Given the description of an element on the screen output the (x, y) to click on. 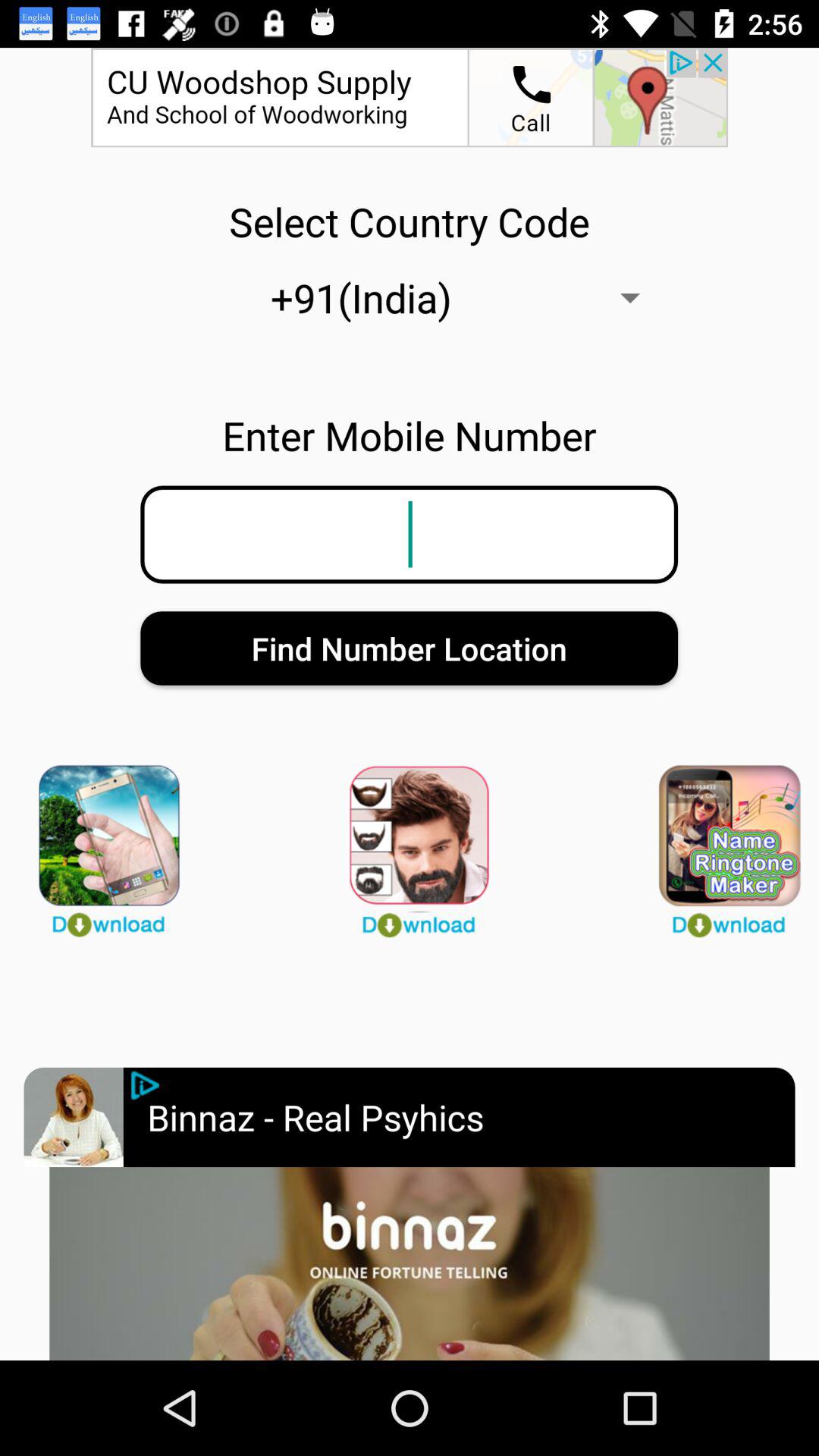
advertisement (145, 1085)
